Given the description of an element on the screen output the (x, y) to click on. 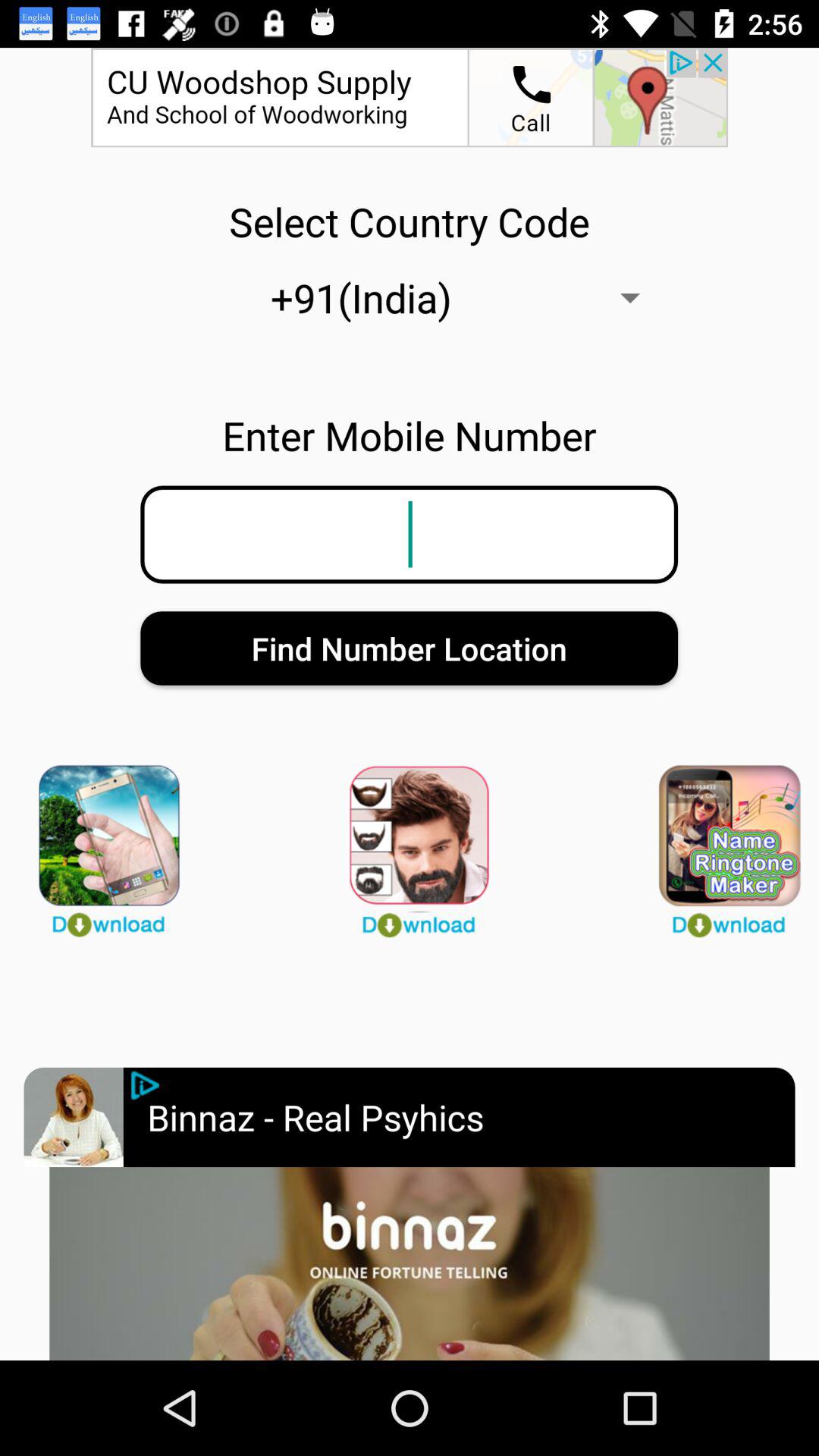
advertisement (145, 1085)
